Given the description of an element on the screen output the (x, y) to click on. 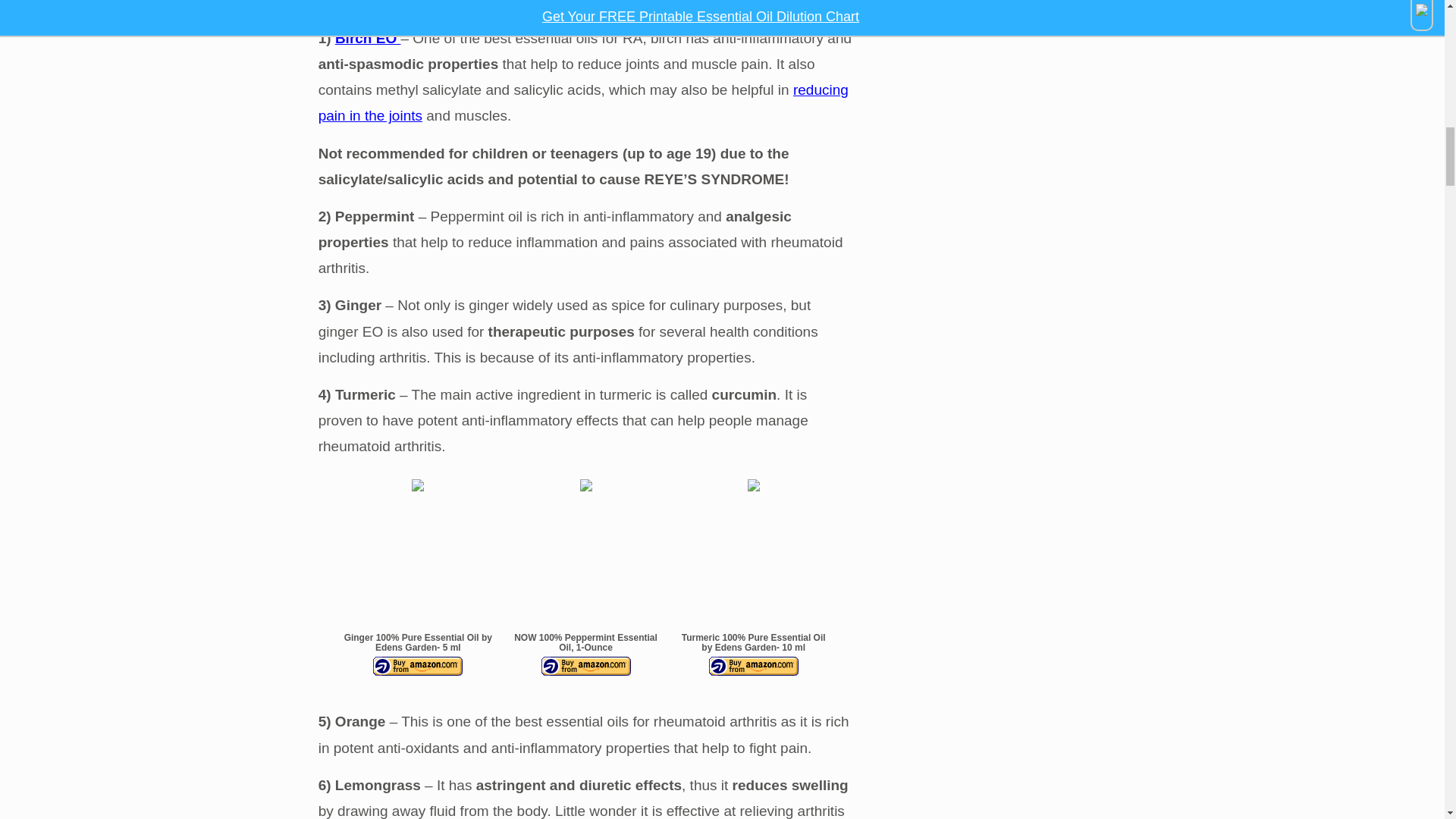
Birch EO (367, 37)
reducing pain in the joints (583, 102)
